Given the description of an element on the screen output the (x, y) to click on. 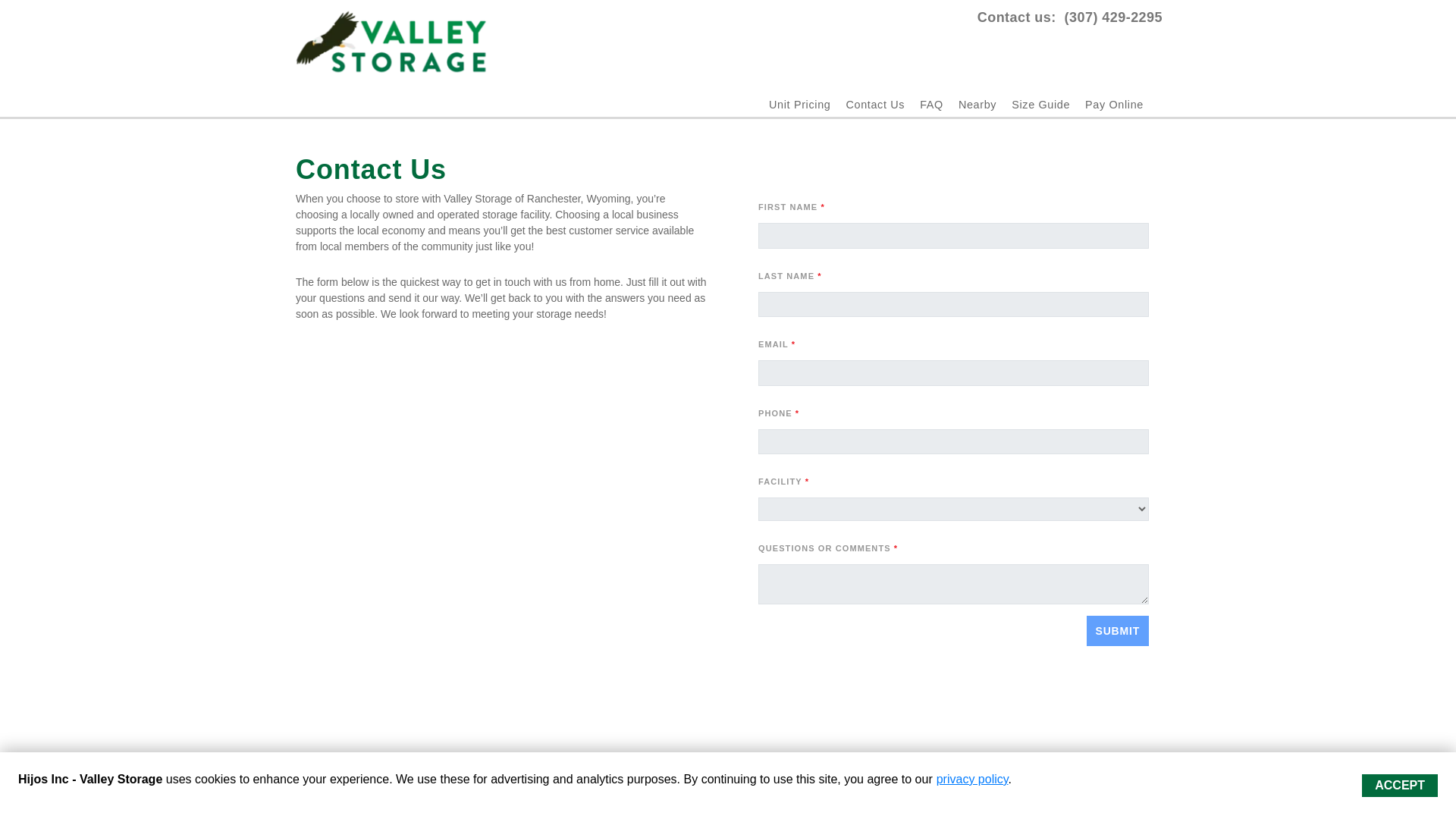
Unit Pricing (798, 104)
privacy policy (972, 779)
ACCEPT (1399, 784)
Nearby (976, 104)
Pay Online (1113, 104)
FAQ (931, 104)
Privacy (839, 796)
Powered by (350, 796)
Admin (1144, 796)
SUBMIT (1117, 630)
Terms (799, 796)
Contact Us (874, 104)
Size Guide (1040, 104)
